Given the description of an element on the screen output the (x, y) to click on. 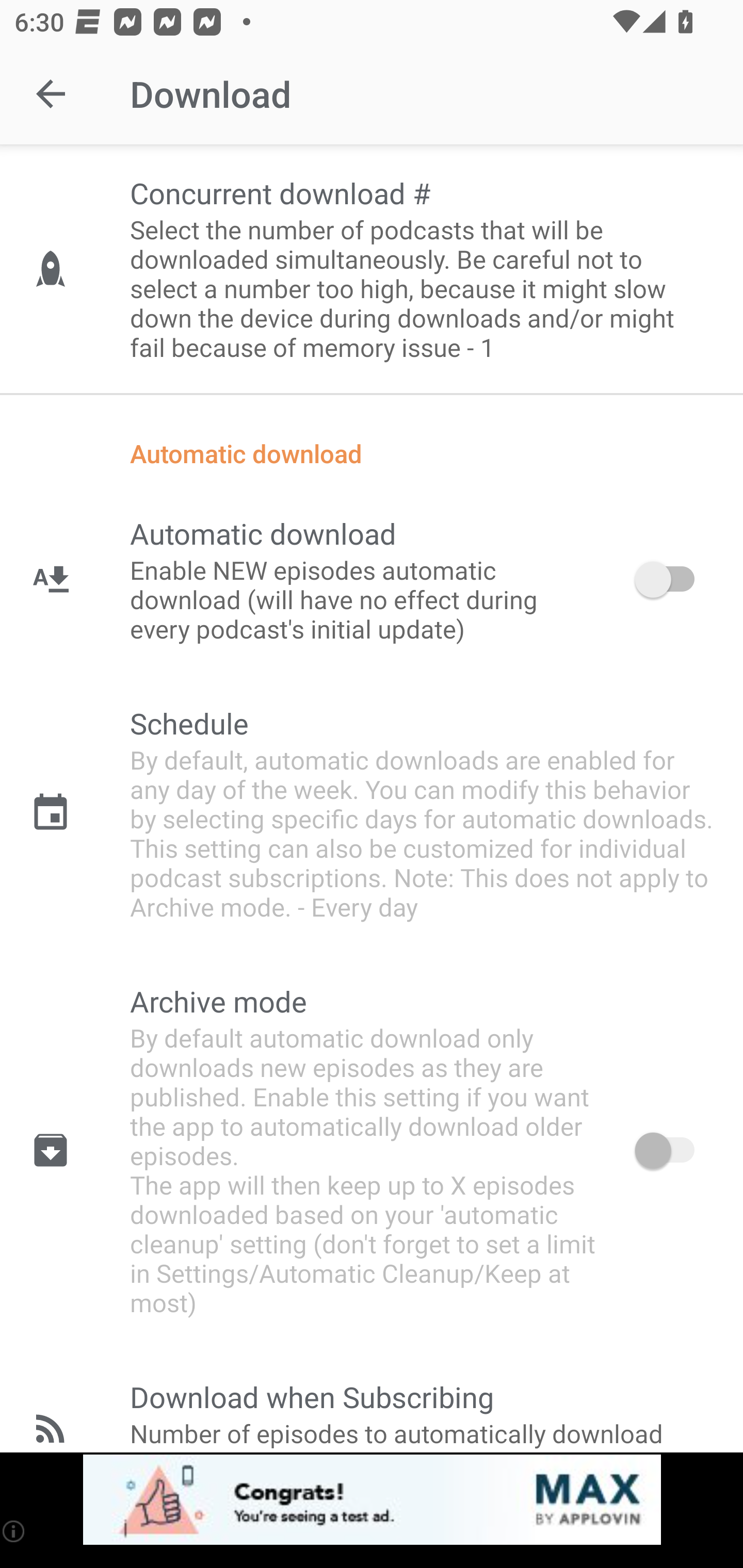
Navigate up (50, 93)
app-monetization (371, 1500)
(i) (14, 1531)
